Given the description of an element on the screen output the (x, y) to click on. 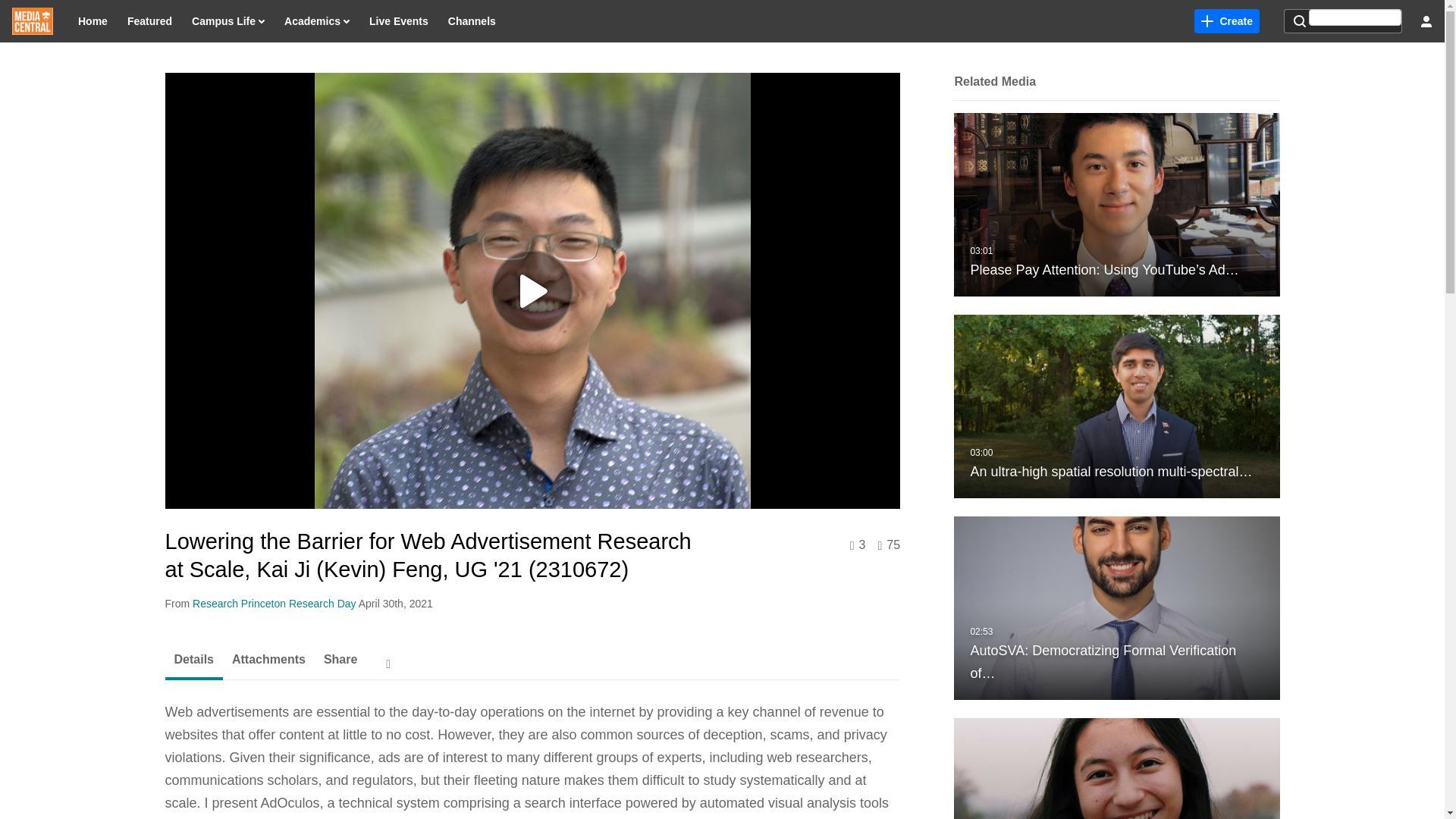
Campus Life (227, 21)
Live Events (398, 21)
Home (92, 21)
Channels (471, 21)
Featured (149, 21)
Academics (316, 21)
Research Princeton Research Day (274, 603)
Create (1226, 21)
3 (858, 545)
